Given the description of an element on the screen output the (x, y) to click on. 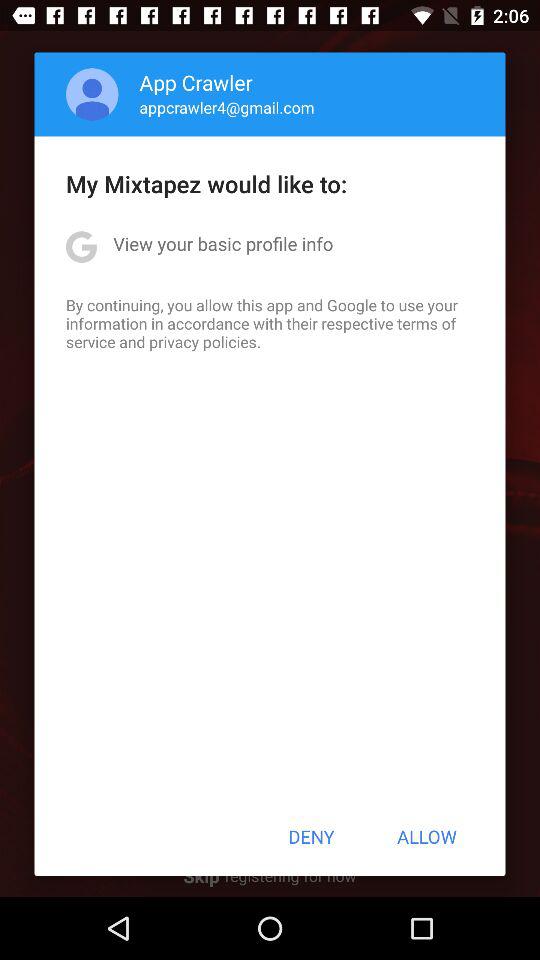
select deny button (311, 836)
